Given the description of an element on the screen output the (x, y) to click on. 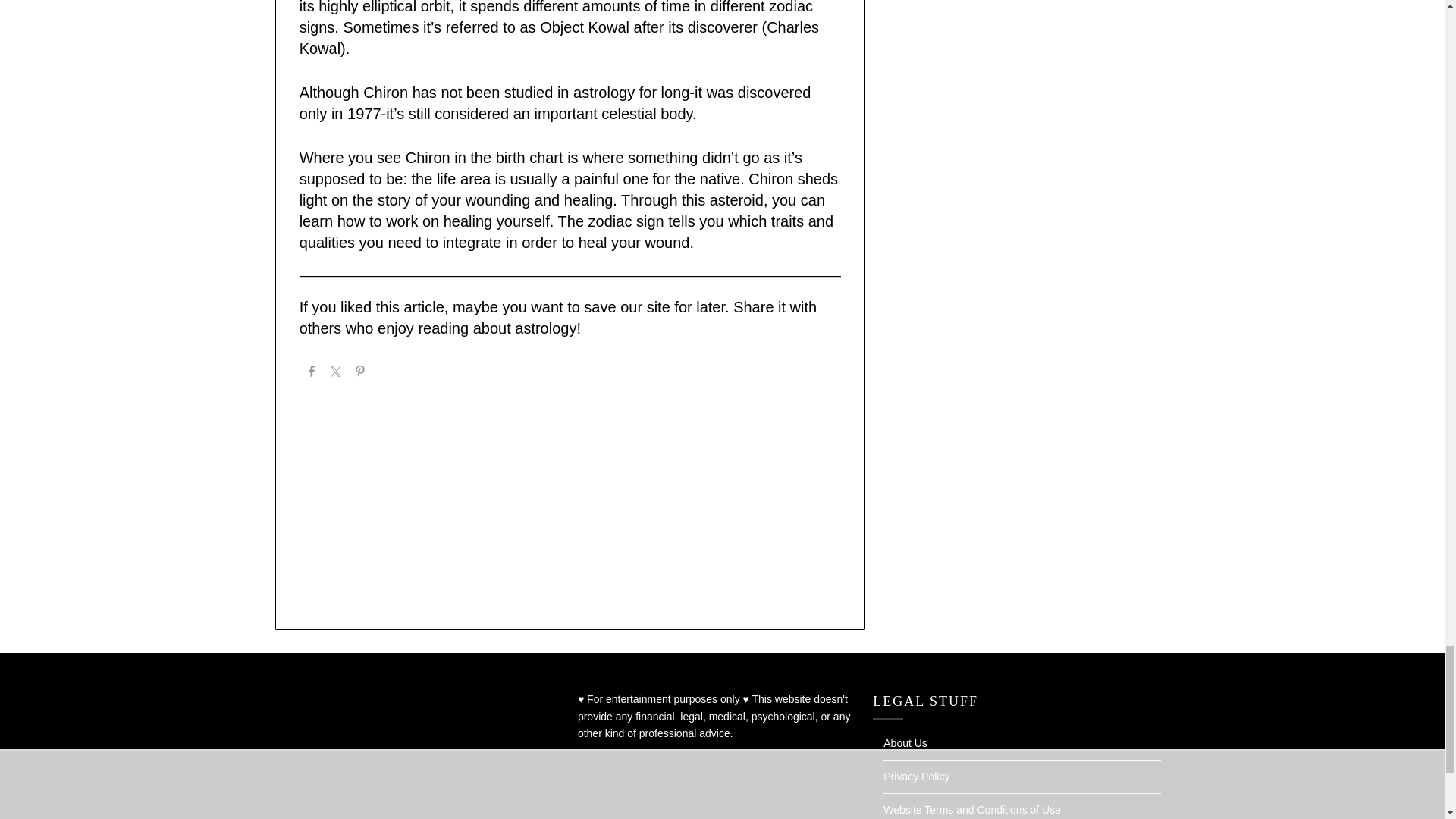
Share on Facebook (311, 373)
Share on Pinterest (359, 373)
Share on Twitter (335, 373)
